Given the description of an element on the screen output the (x, y) to click on. 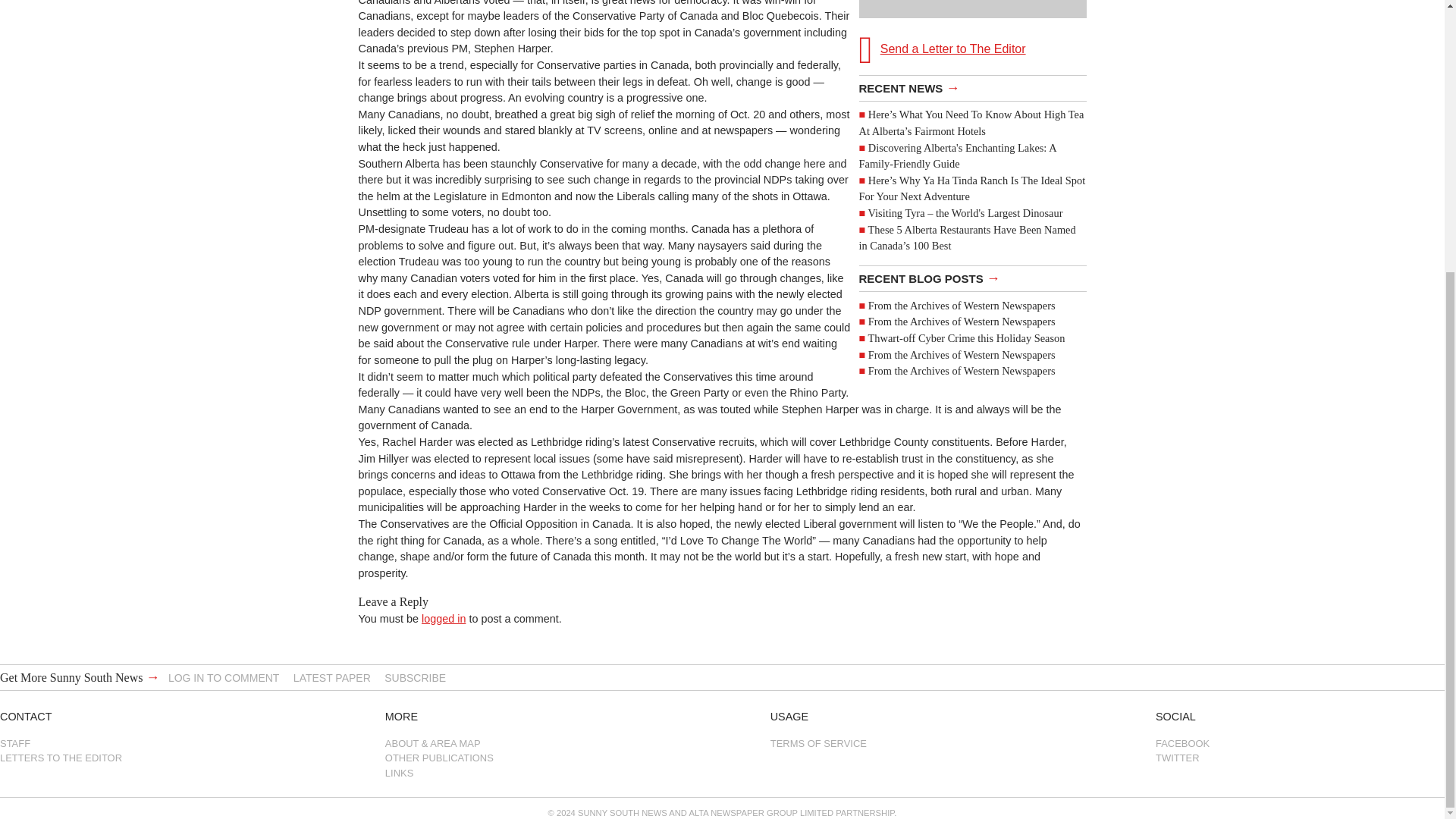
Thwart-off Cyber Crime this Holiday Season (966, 337)
From the Archives of Western Newspapers (961, 321)
logged in (443, 618)
From the Archives of Western Newspapers (961, 370)
From the Archives of Western Newspapers (961, 305)
Send a Letter to The Editor (972, 34)
From the Archives of Western Newspapers (961, 354)
